Given the description of an element on the screen output the (x, y) to click on. 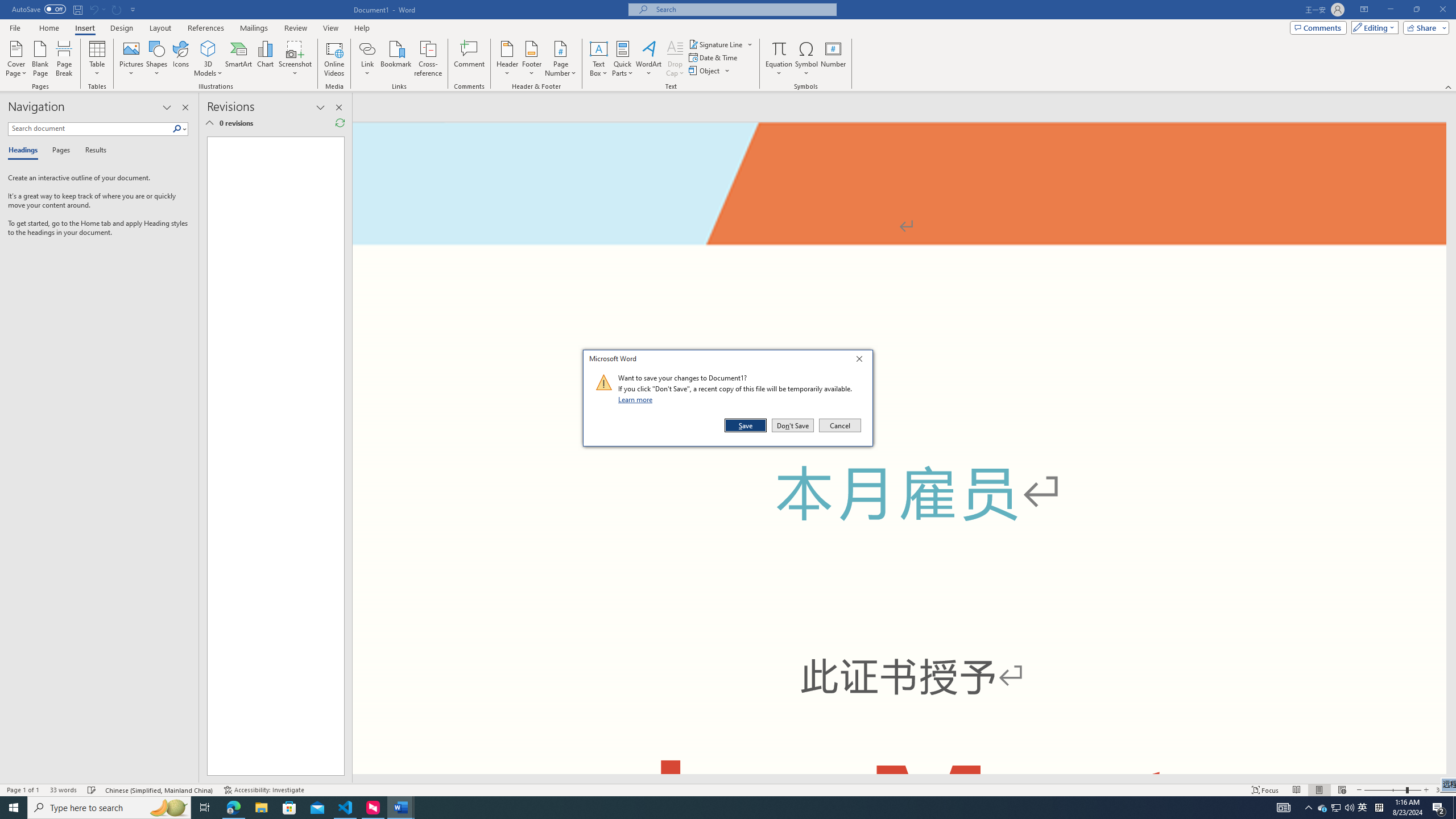
Cancel (839, 425)
SmartArt... (1322, 807)
Page 1 content (238, 58)
Screenshot (271, 455)
Object... (295, 58)
Equation (705, 69)
Page Number (778, 58)
Class: NetUIScrollBar (560, 58)
Comment (898, 778)
Don't Save (469, 58)
Bookmark... (792, 425)
Online Videos... (396, 58)
